Given the description of an element on the screen output the (x, y) to click on. 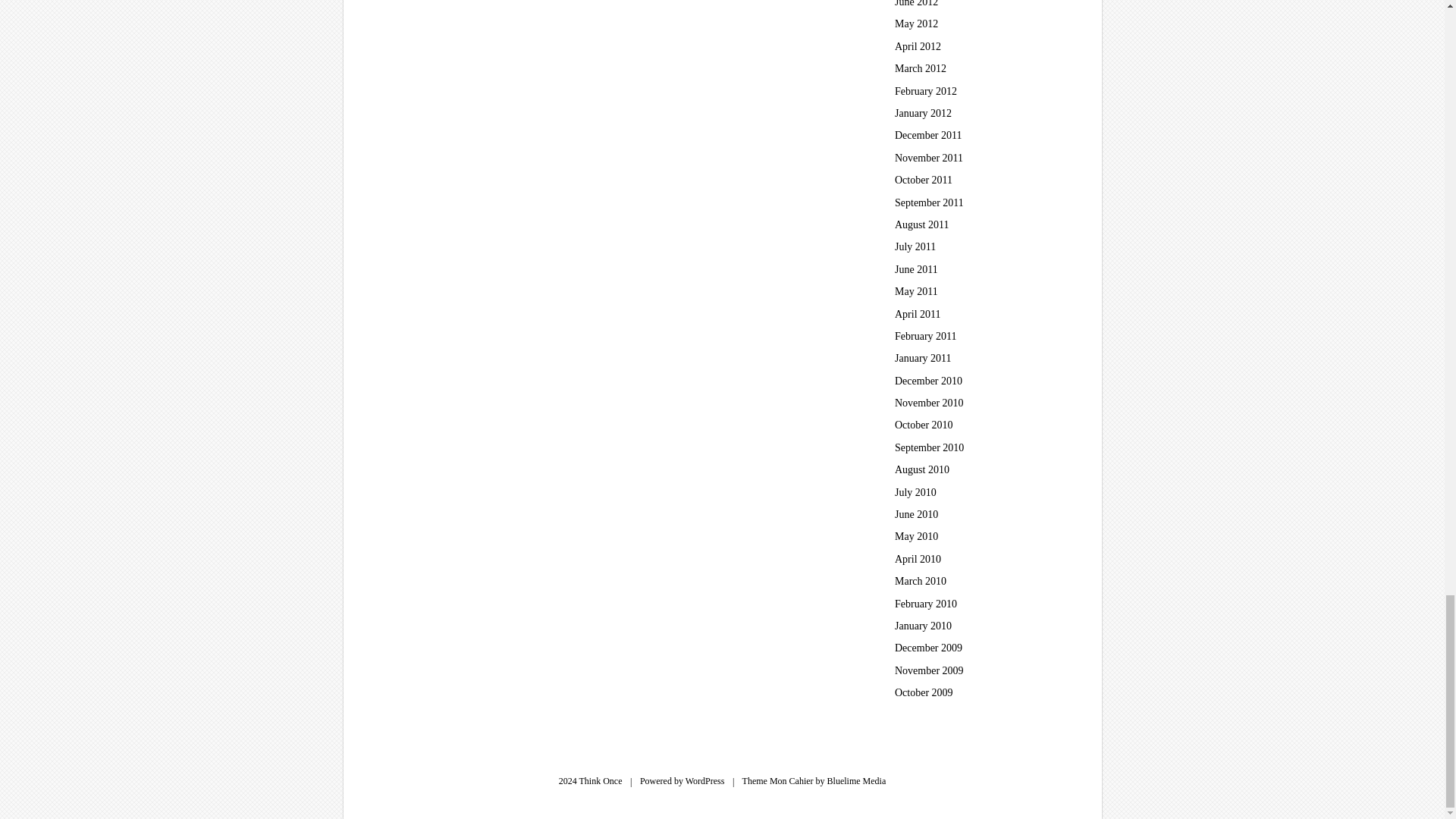
Bluelime Media (856, 780)
Semantic Personal Publishing Platform (705, 780)
